Given the description of an element on the screen output the (x, y) to click on. 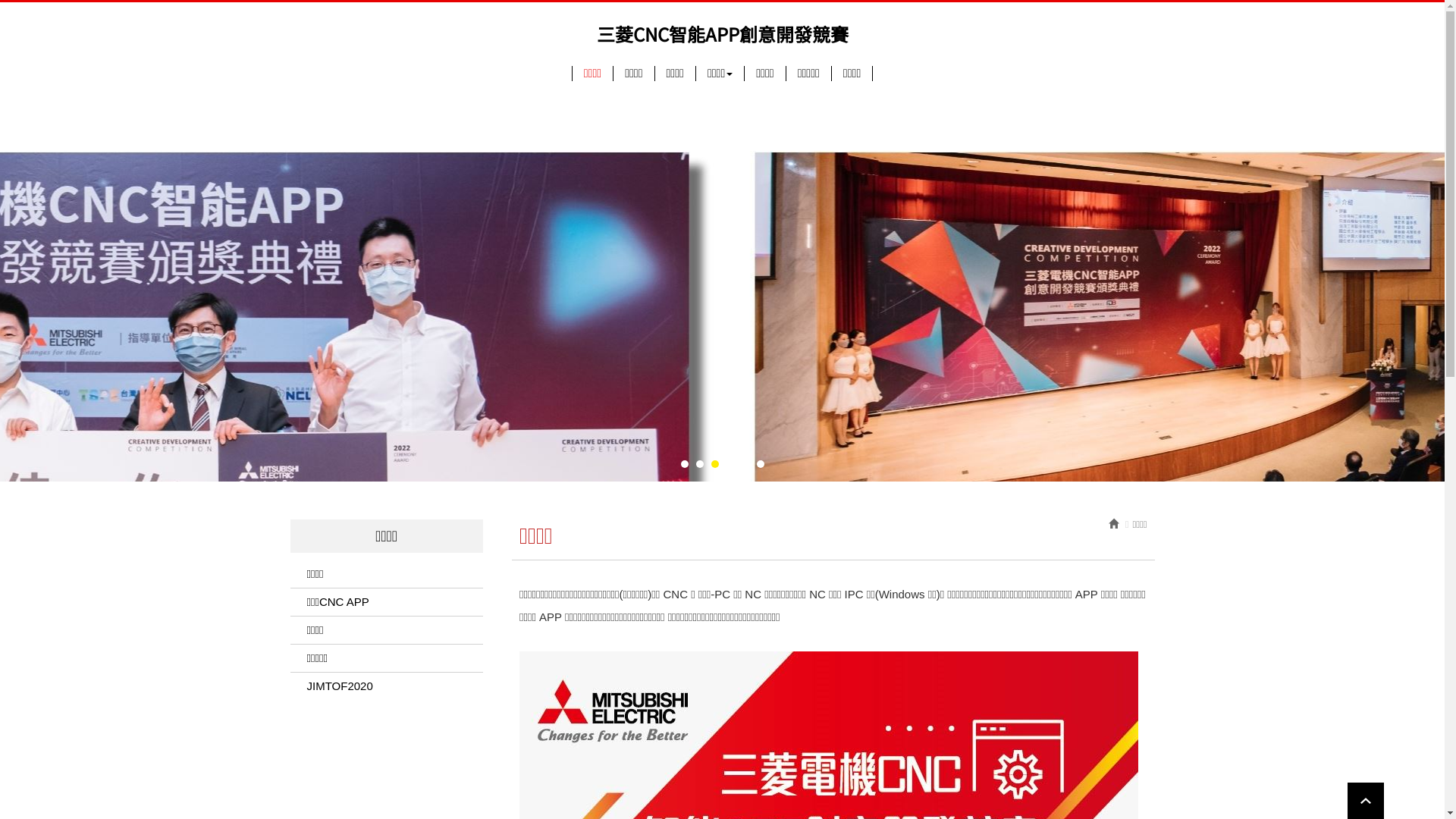
JIMTOF2020 Element type: text (385, 685)
3 Element type: text (714, 463)
5 Element type: text (745, 463)
2 Element type: text (699, 463)
4 Element type: text (730, 463)
1 Element type: text (684, 463)
6 Element type: text (760, 463)
